Given the description of an element on the screen output the (x, y) to click on. 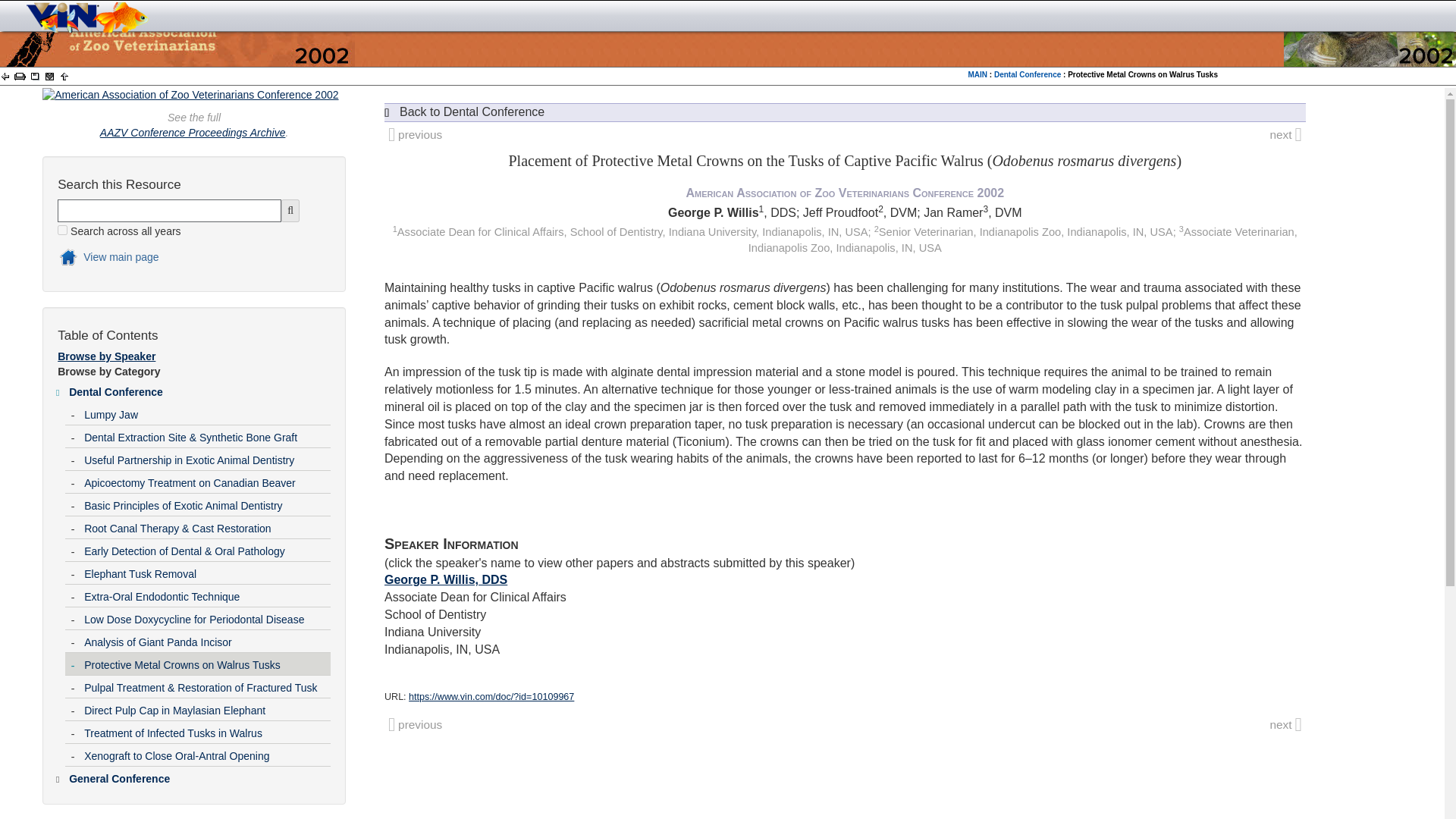
on (62, 230)
